Given the description of an element on the screen output the (x, y) to click on. 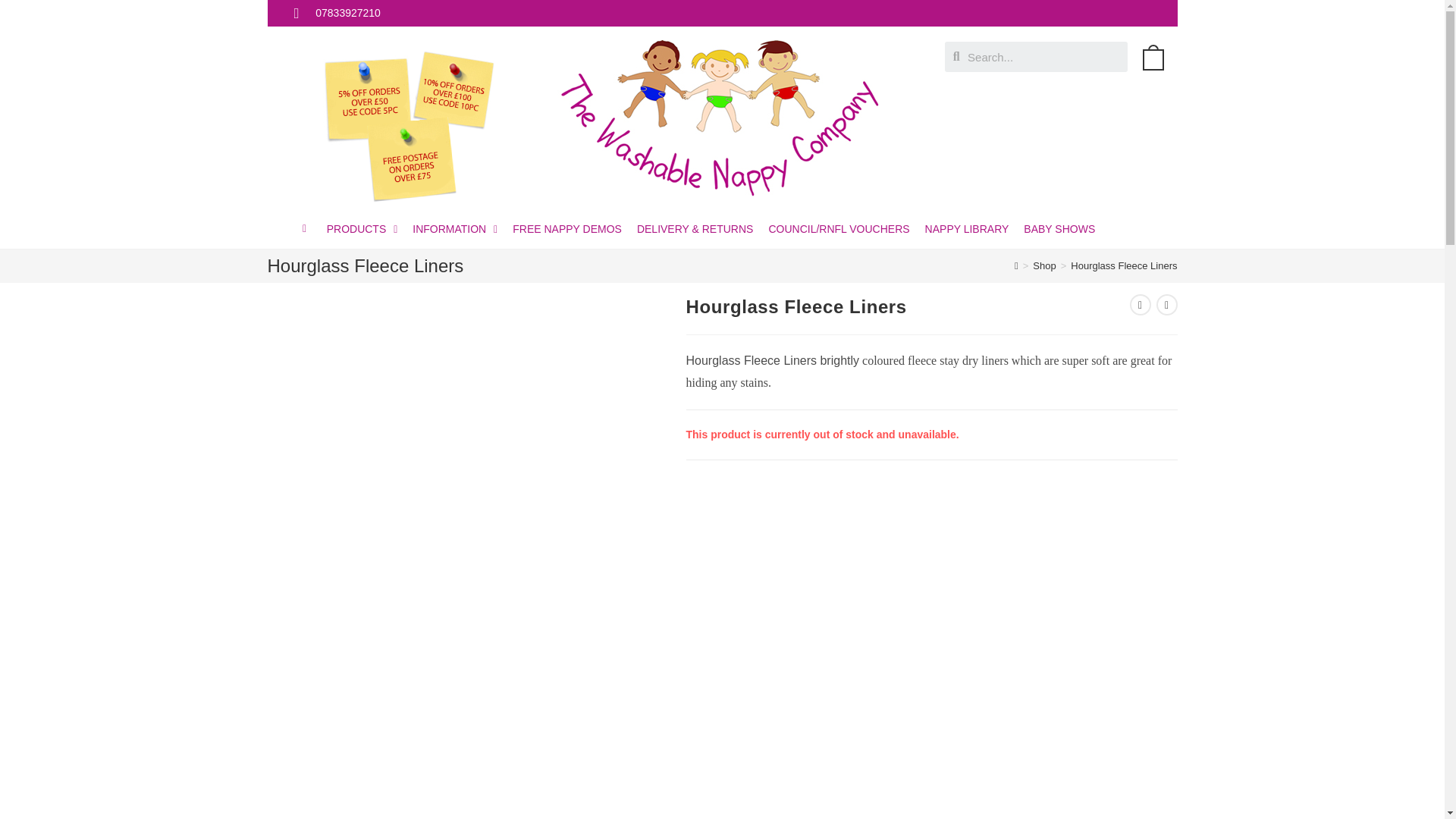
Search (1043, 56)
07833927210 (337, 13)
PRODUCTS (362, 228)
